Given the description of an element on the screen output the (x, y) to click on. 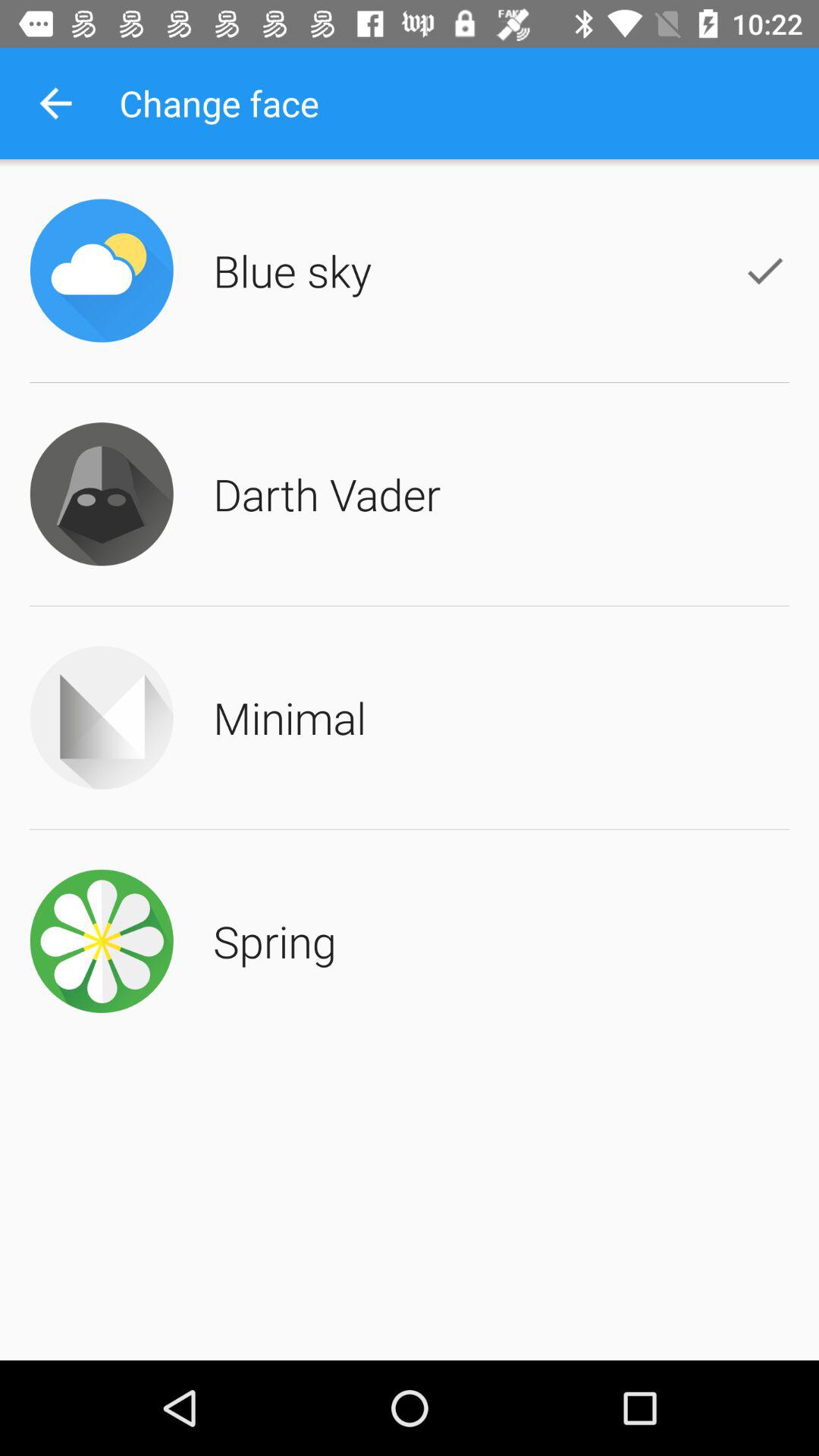
jump to the darth vader icon (326, 493)
